Given the description of an element on the screen output the (x, y) to click on. 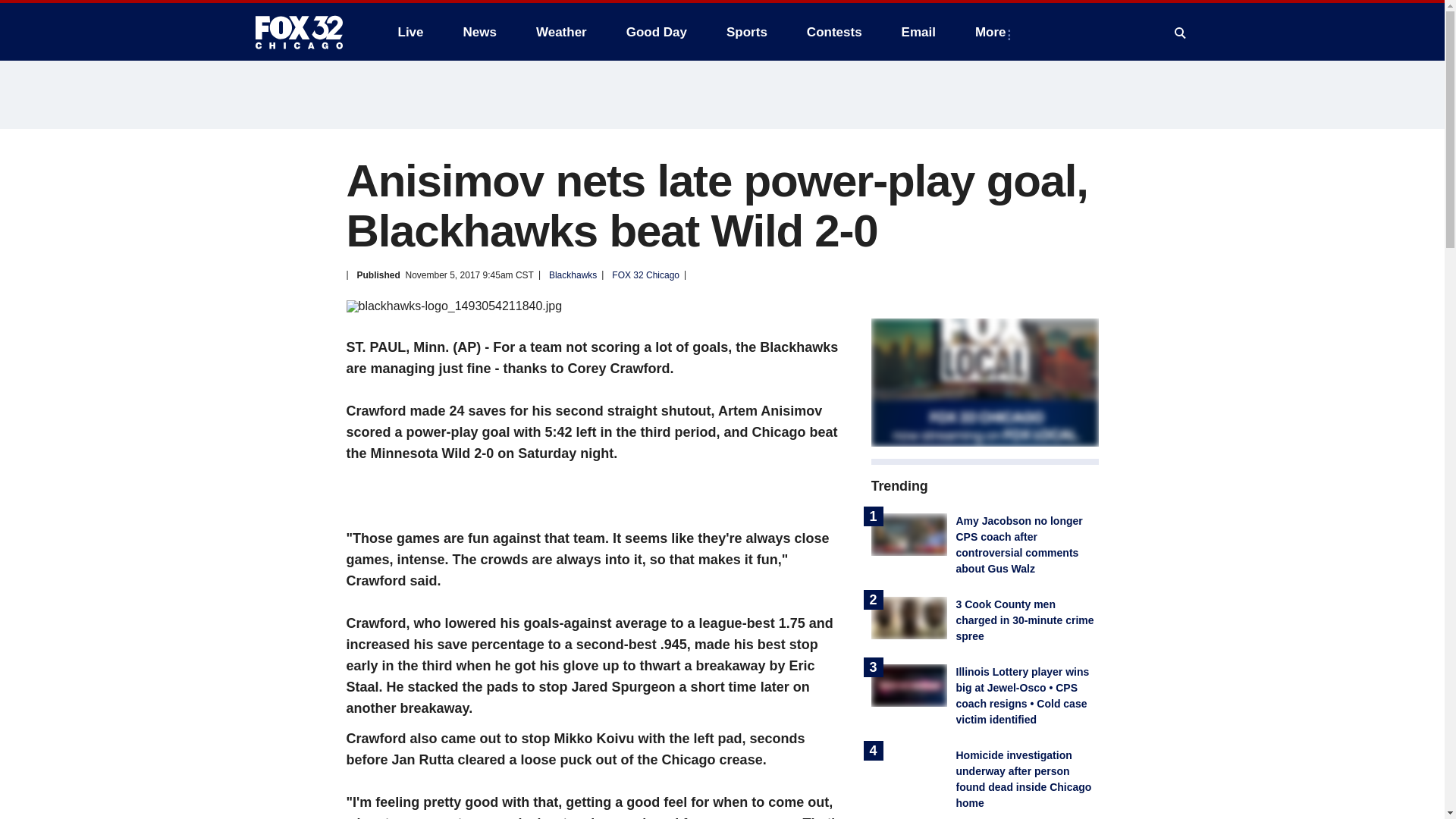
Weather (561, 32)
Sports (746, 32)
Live (410, 32)
Email (918, 32)
More (993, 32)
Good Day (656, 32)
News (479, 32)
Contests (834, 32)
